Given the description of an element on the screen output the (x, y) to click on. 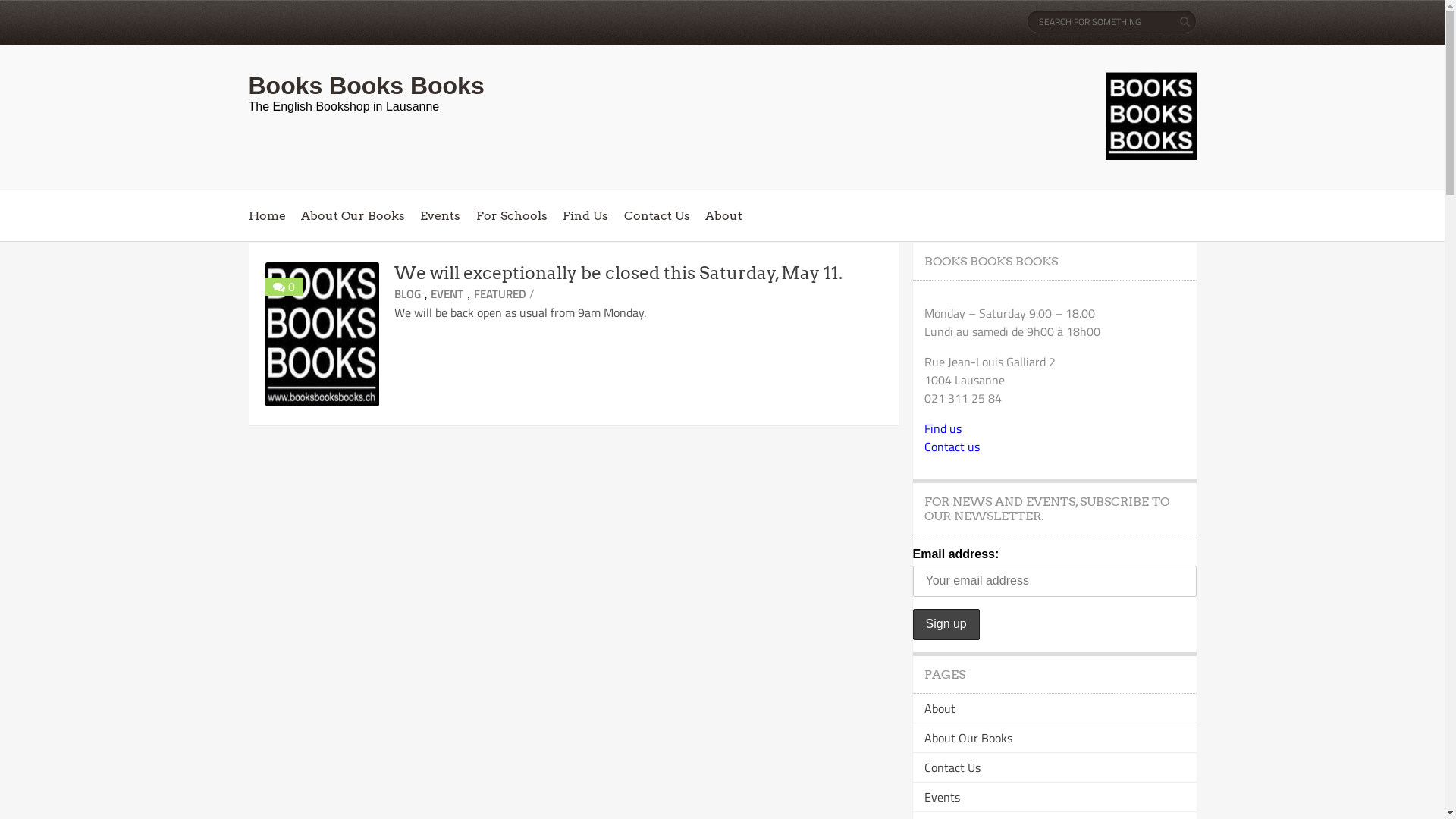
BLOG Element type: text (407, 293)
Contact Us Element type: text (951, 767)
Events Element type: text (440, 215)
Contact Us Element type: text (657, 215)
Events Element type: text (941, 796)
Books Books Books Element type: text (366, 85)
For Schools Element type: text (511, 215)
About Element type: text (723, 215)
About Our Books Element type: text (352, 215)
About Our Books Element type: text (967, 737)
FEATURED Element type: text (499, 293)
English Bookshop Logo Element type: hover (1150, 116)
Home Element type: text (266, 215)
We will exceptionally be closed this Saturday, May 11. Element type: text (618, 272)
Find Us Element type: text (585, 215)
EVENT Element type: text (446, 293)
0 Element type: text (291, 286)
Find us Element type: text (941, 428)
Contact us Element type: text (951, 446)
About Element type: text (938, 708)
Sign up Element type: text (946, 624)
